Given the description of an element on the screen output the (x, y) to click on. 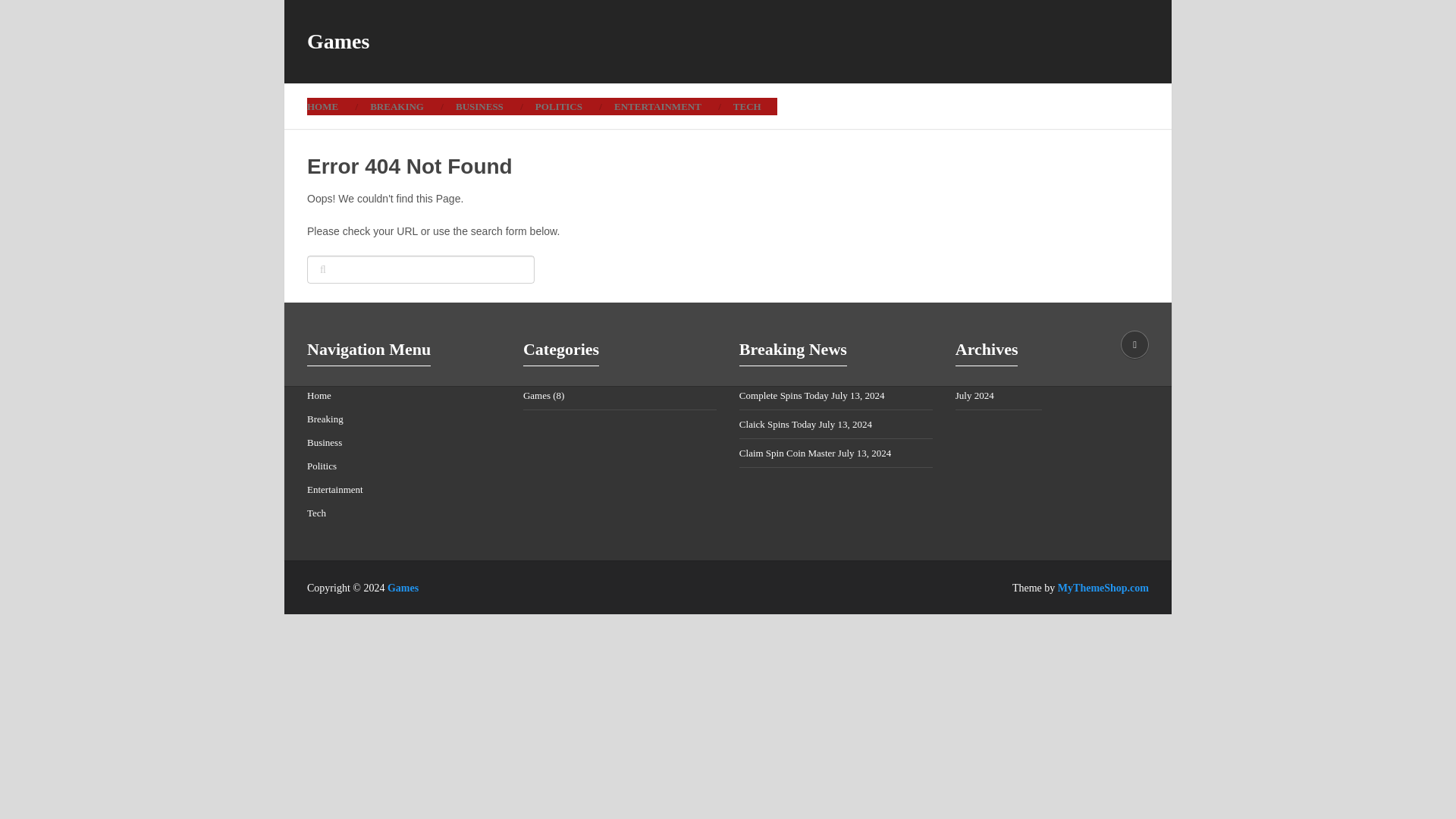
HOME (330, 105)
Claim Spin Coin Master (787, 452)
Tech (316, 512)
Games (338, 41)
Entertainment (334, 489)
TECH (747, 105)
Games (536, 395)
Politics (321, 465)
MyThemeShop.com (1103, 587)
July 2024 (974, 395)
